Given the description of an element on the screen output the (x, y) to click on. 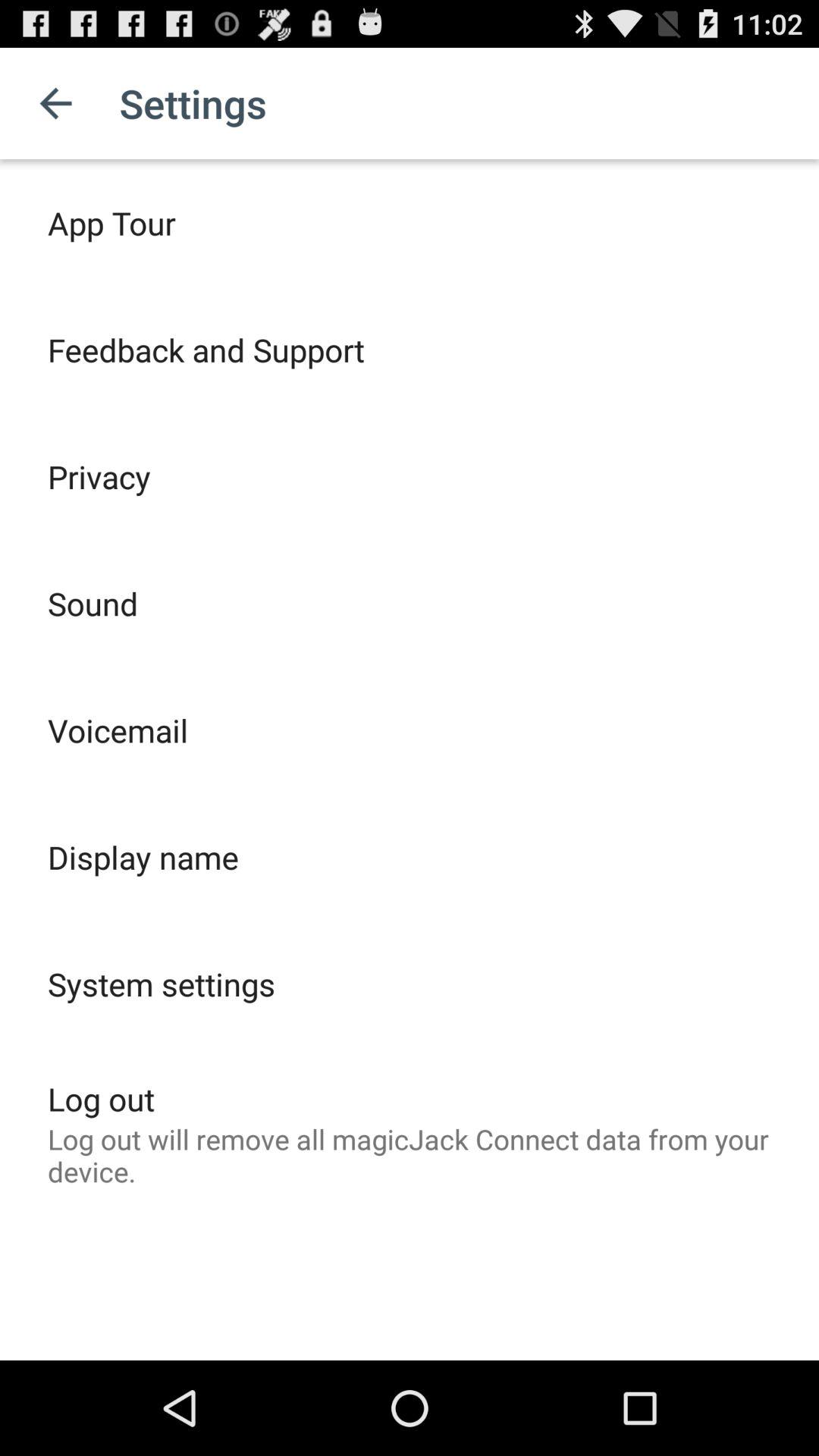
turn off icon above voicemail (92, 603)
